Given the description of an element on the screen output the (x, y) to click on. 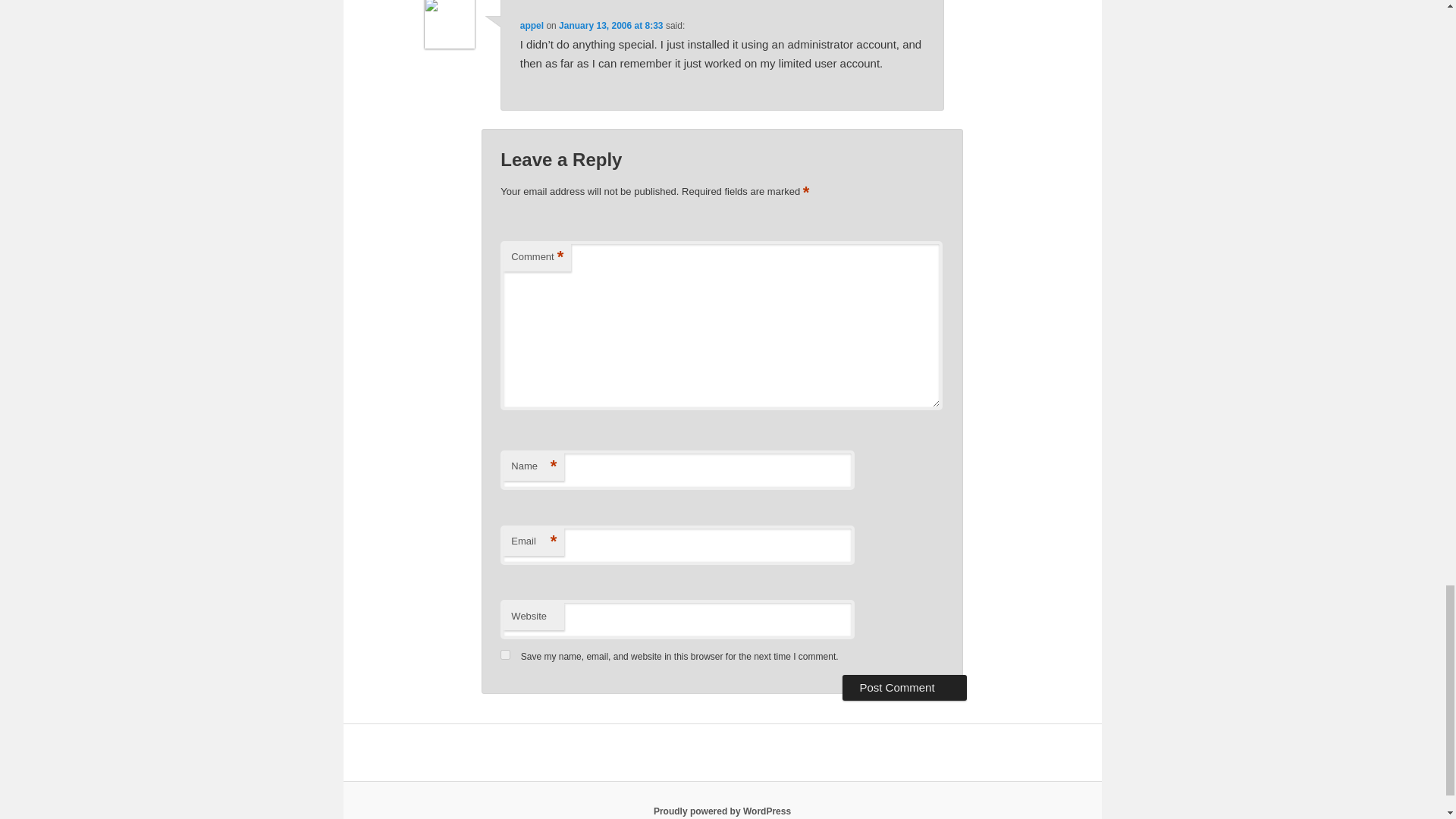
January 13, 2006 at 8:33 (610, 25)
Post Comment (904, 687)
Semantic Personal Publishing Platform (721, 810)
yes (505, 655)
appel (531, 25)
